Given the description of an element on the screen output the (x, y) to click on. 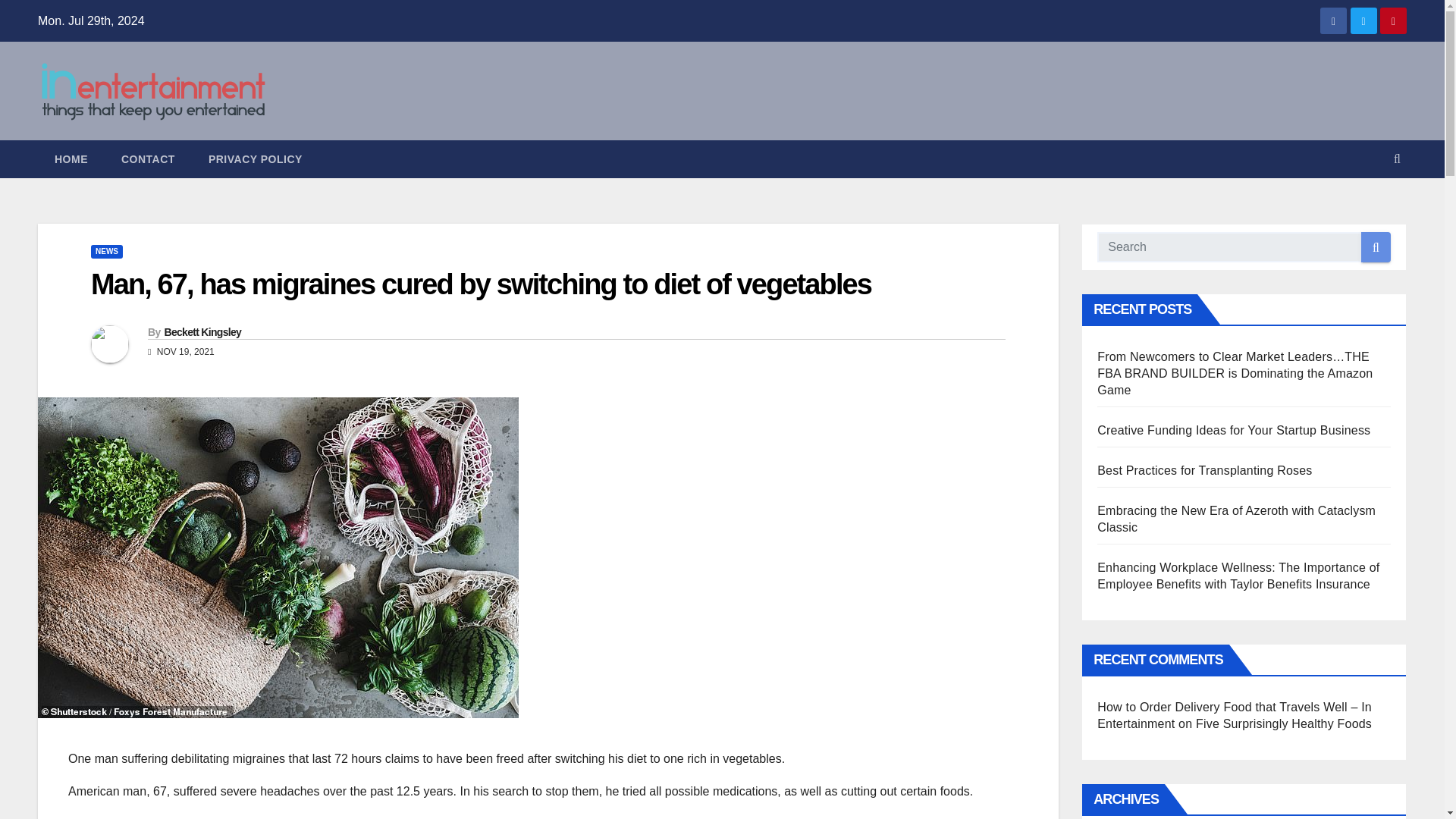
Beckett Kingsley (202, 331)
HOME (70, 159)
NEWS (106, 251)
Best Practices for Transplanting Roses (1204, 470)
Creative Funding Ideas for Your Startup Business (1233, 430)
PRIVACY POLICY (255, 159)
Home (70, 159)
Embracing the New Era of Azeroth with Cataclysm Classic (1236, 518)
CONTACT (148, 159)
